Given the description of an element on the screen output the (x, y) to click on. 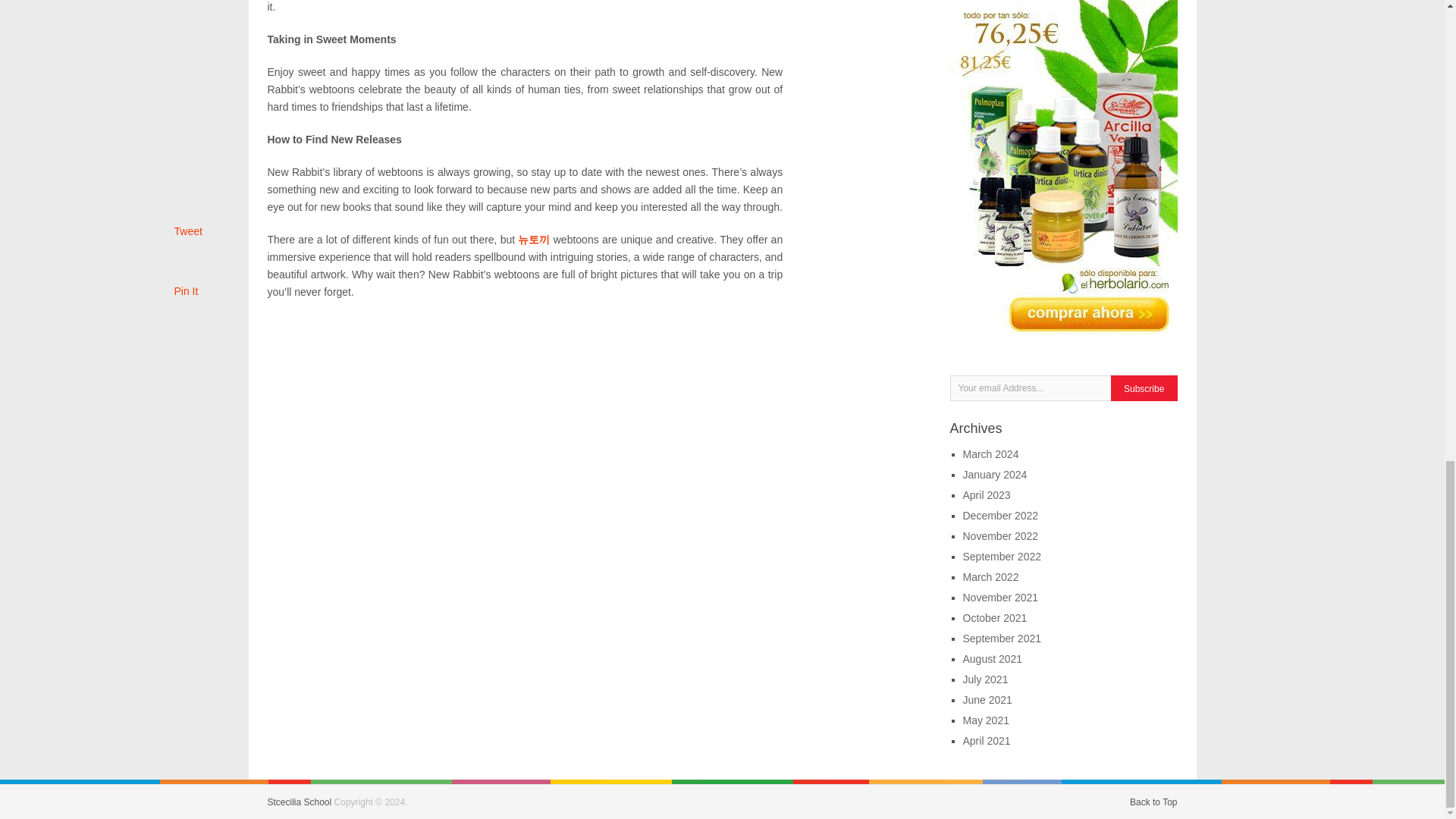
Your email Address... (1032, 388)
Subscribe (1143, 388)
